Given the description of an element on the screen output the (x, y) to click on. 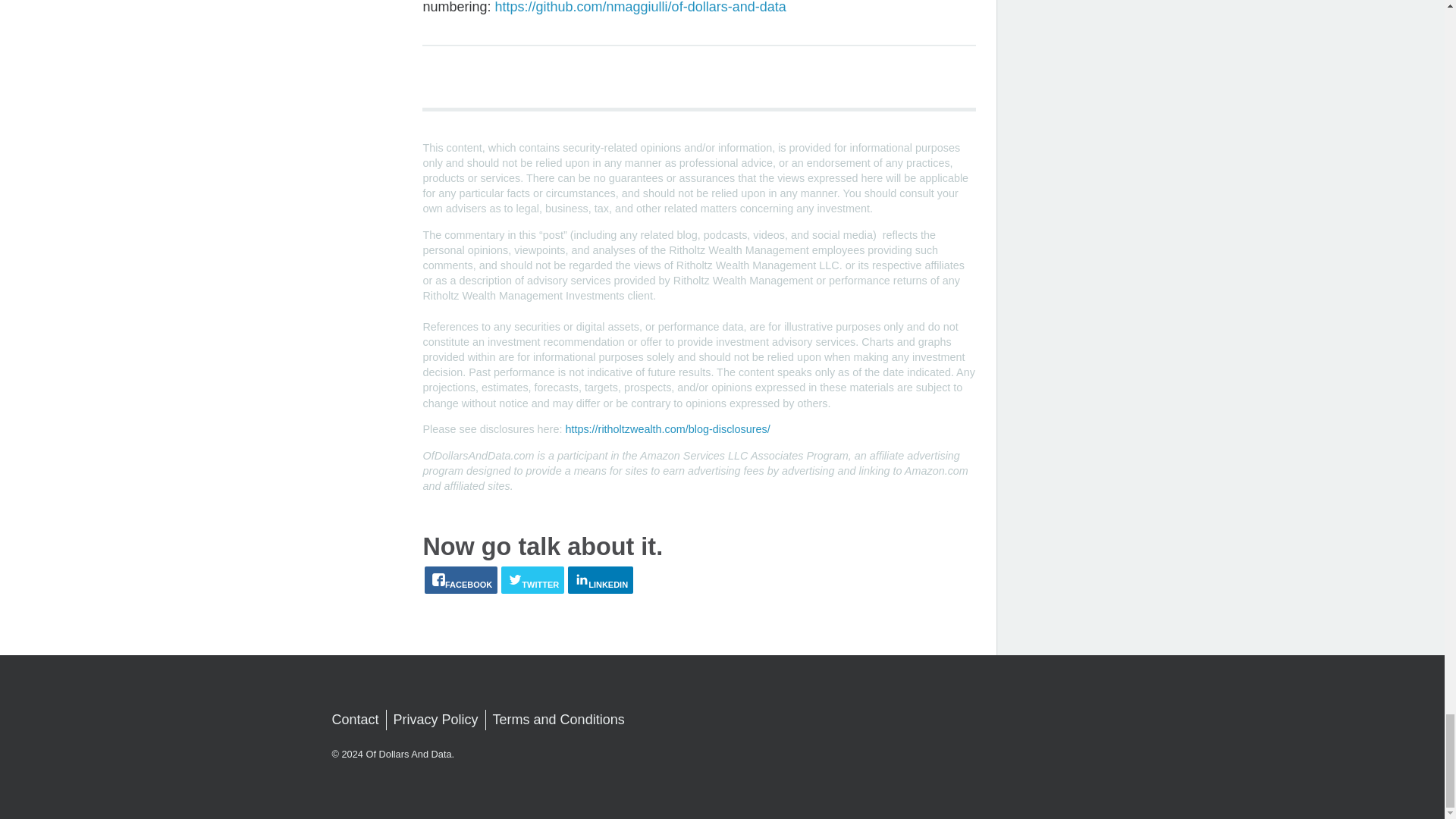
Terms and Conditions (558, 720)
FACEBOOK (461, 579)
TWITTER (532, 579)
LINKEDIN (600, 579)
Contact (354, 720)
Privacy Policy (436, 720)
